Given the description of an element on the screen output the (x, y) to click on. 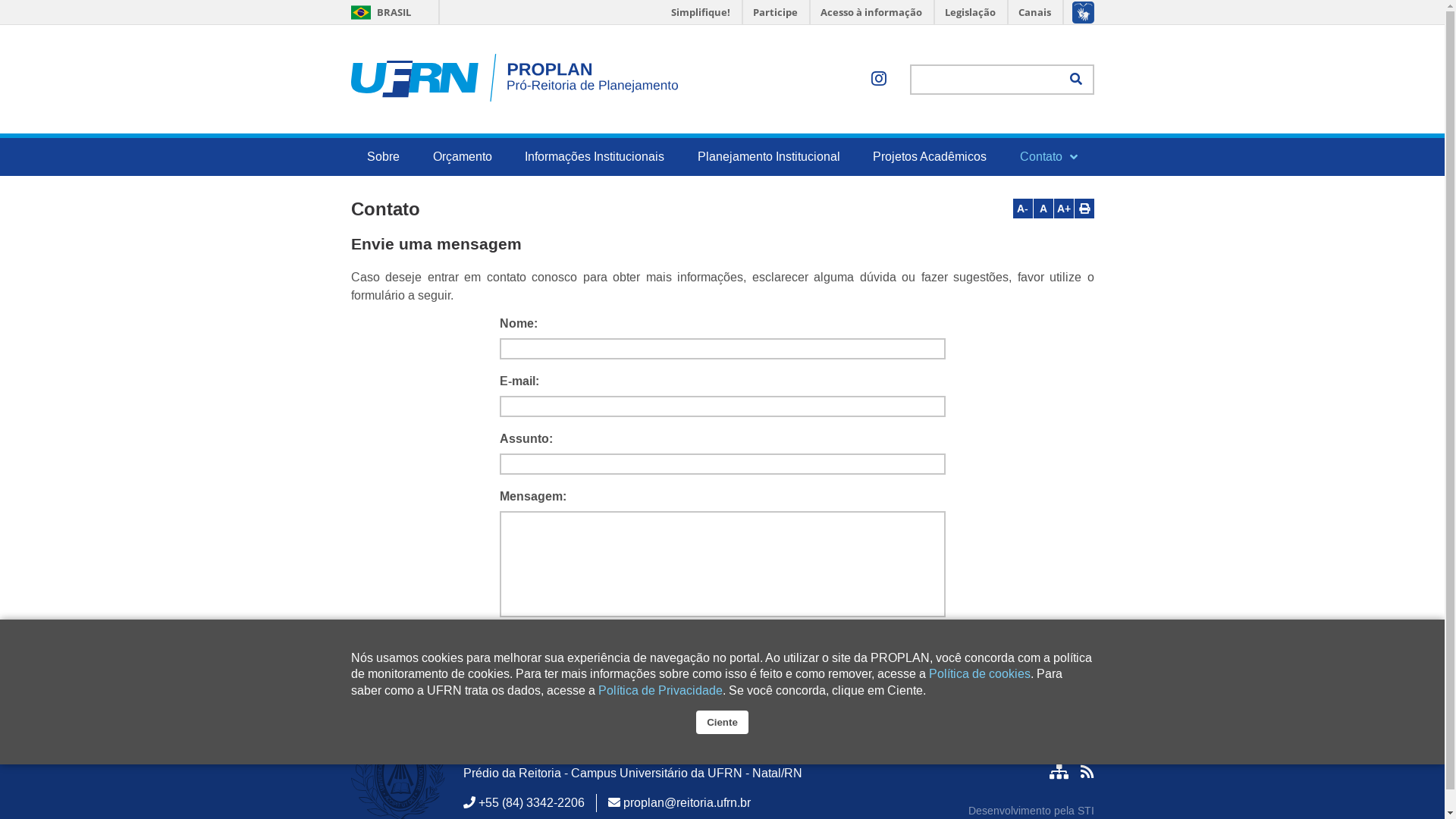
A-
A
A+ Element type: text (1053, 208)
Planejamento Institucional Element type: text (768, 156)
proplan@reitoria.ufrn.br Element type: text (686, 802)
BRASIL Element type: text (379, 12)
Ciente Element type: text (722, 722)
A+ Element type: text (1063, 208)
Enviar Element type: text (809, 648)
Buscar Element type: hover (1075, 79)
A Element type: text (1042, 208)
Acesse o mapa do site Element type: hover (1058, 772)
Siga-nos no Instagram! Element type: hover (878, 79)
Contato Element type: text (1048, 156)
STI Element type: text (1084, 810)
A- Element type: text (1022, 208)
Sobre Element type: text (383, 156)
